Given the description of an element on the screen output the (x, y) to click on. 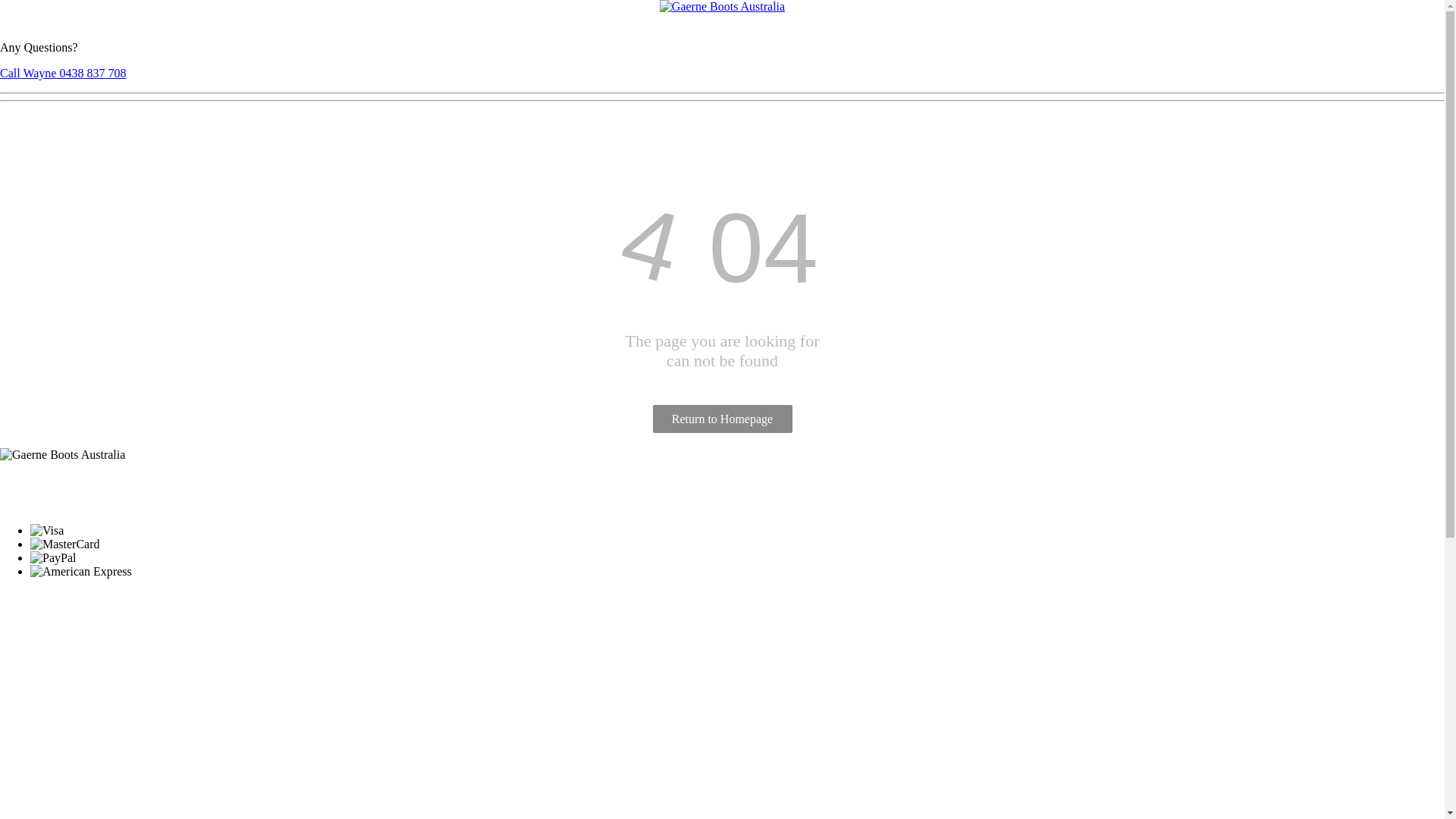
Return to Homepage Element type: text (721, 418)
0438 837 708 Element type: text (60, 505)
Call Wayne 0438 837 708 Element type: text (62, 72)
